Given the description of an element on the screen output the (x, y) to click on. 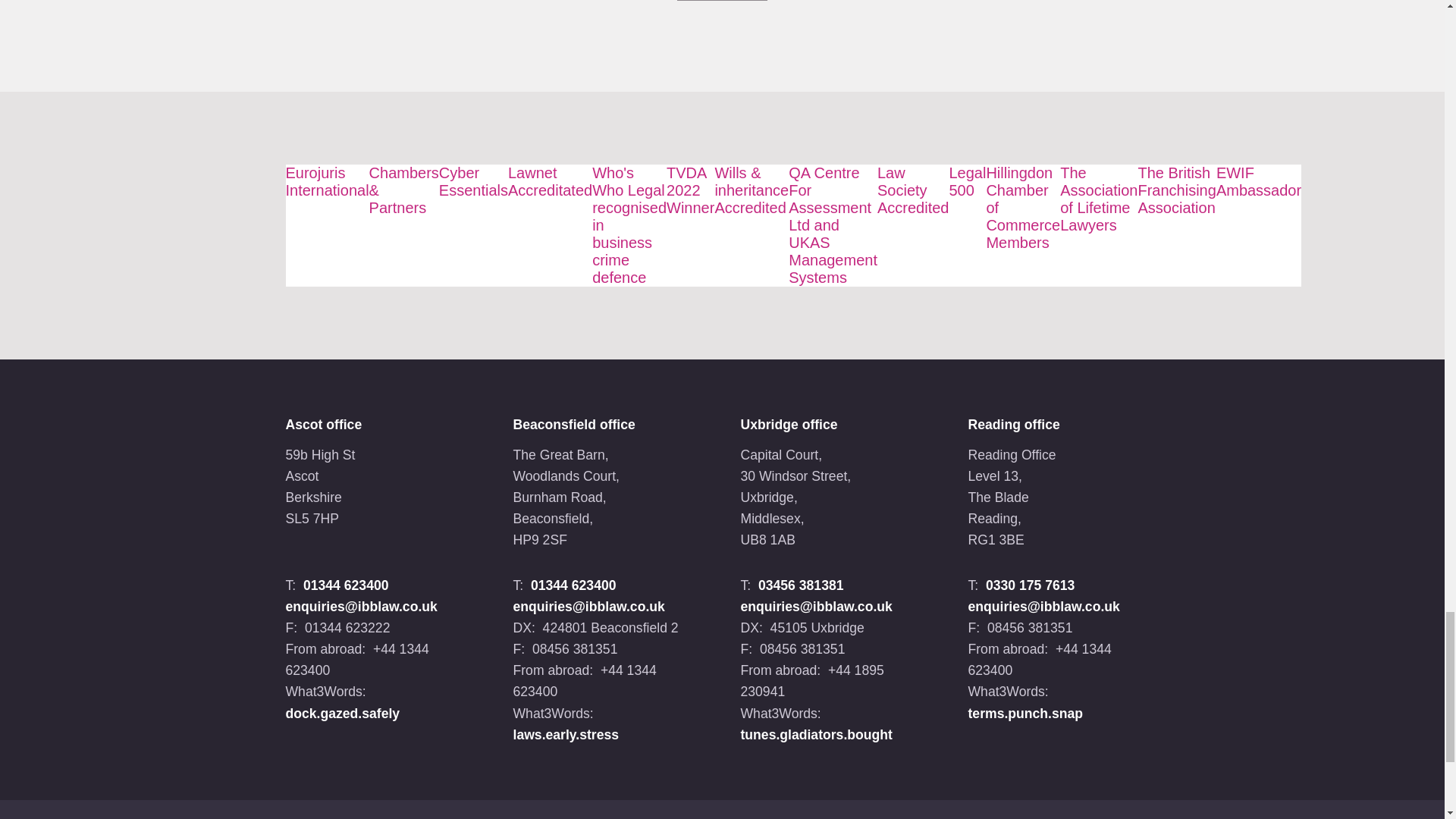
Legal 500 (967, 181)
The British Franchising Association  (1176, 190)
Cyber Essentials (473, 181)
The Association of Lifetime Lawyers (1098, 198)
Eurojuris International (326, 181)
TVDA 2022 Winner (690, 190)
Law Society Accredited (913, 190)
Lawnet Accreditated (550, 181)
